Given the description of an element on the screen output the (x, y) to click on. 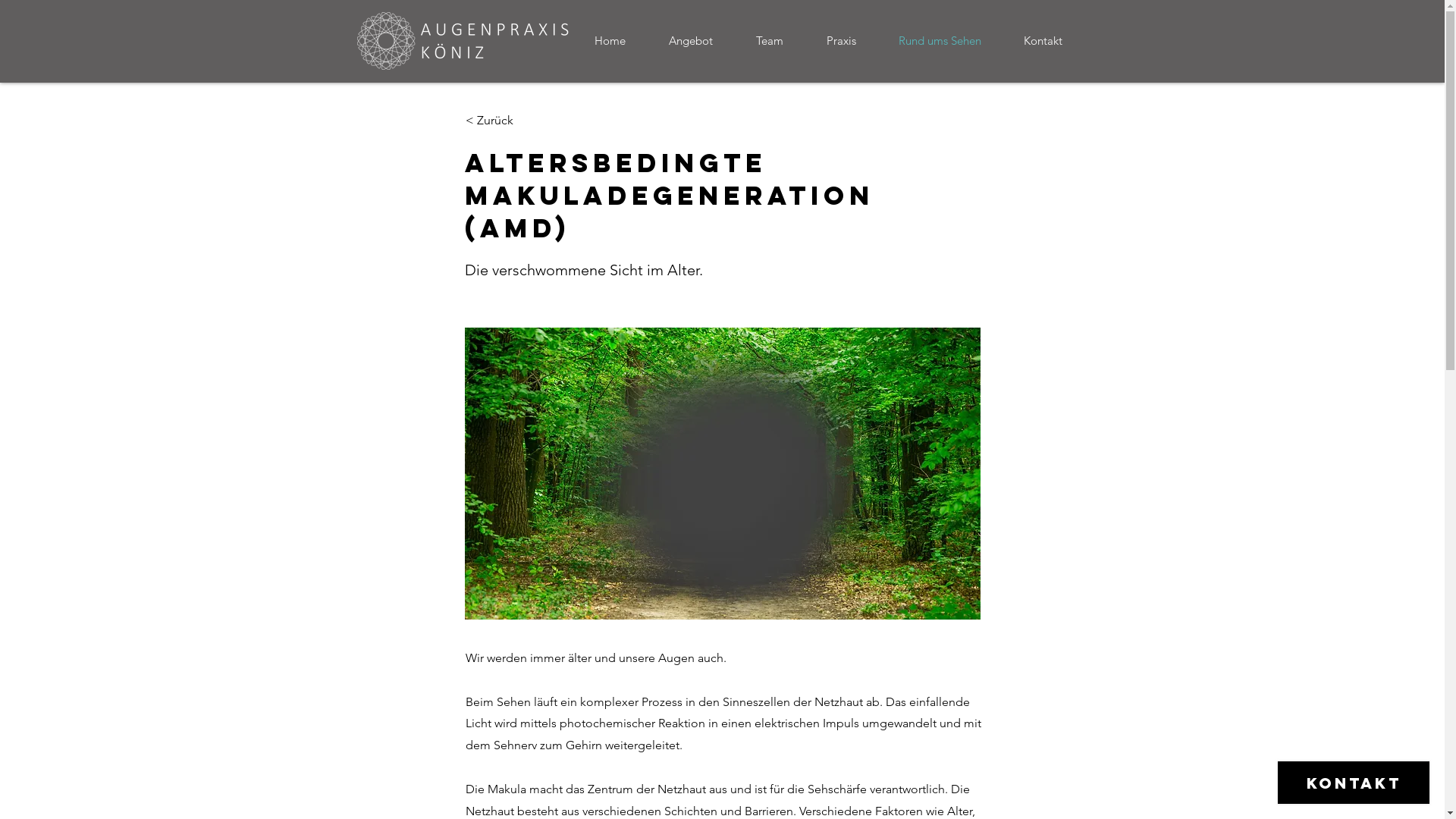
Praxis Element type: text (850, 40)
Kontakt Element type: text (1051, 40)
Rund ums Sehen Element type: text (949, 40)
AMD, ARMD, Makuladegeneration.jpg Element type: hover (721, 473)
Team Element type: text (779, 40)
Angebot Element type: text (699, 40)
Home Element type: text (619, 40)
